Given the description of an element on the screen output the (x, y) to click on. 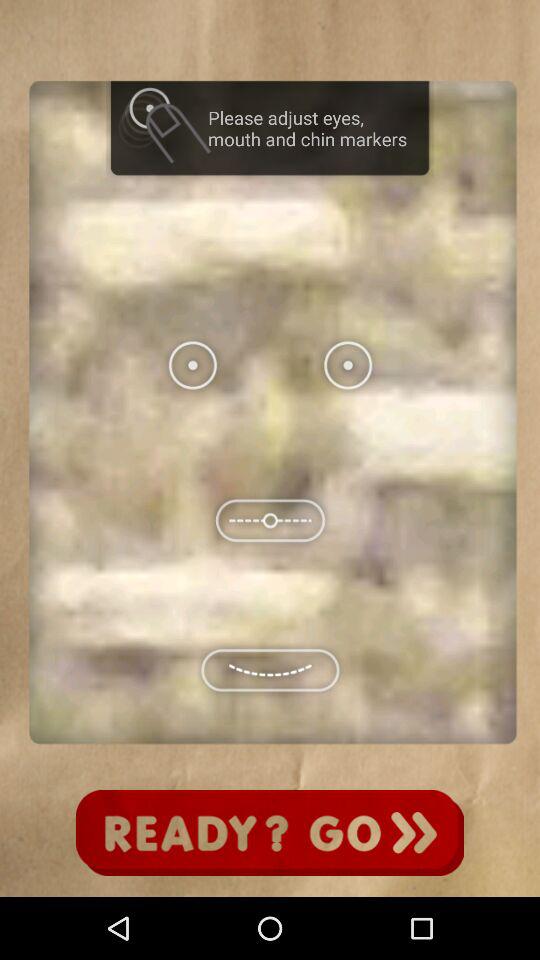
a hidden add (269, 833)
